Given the description of an element on the screen output the (x, y) to click on. 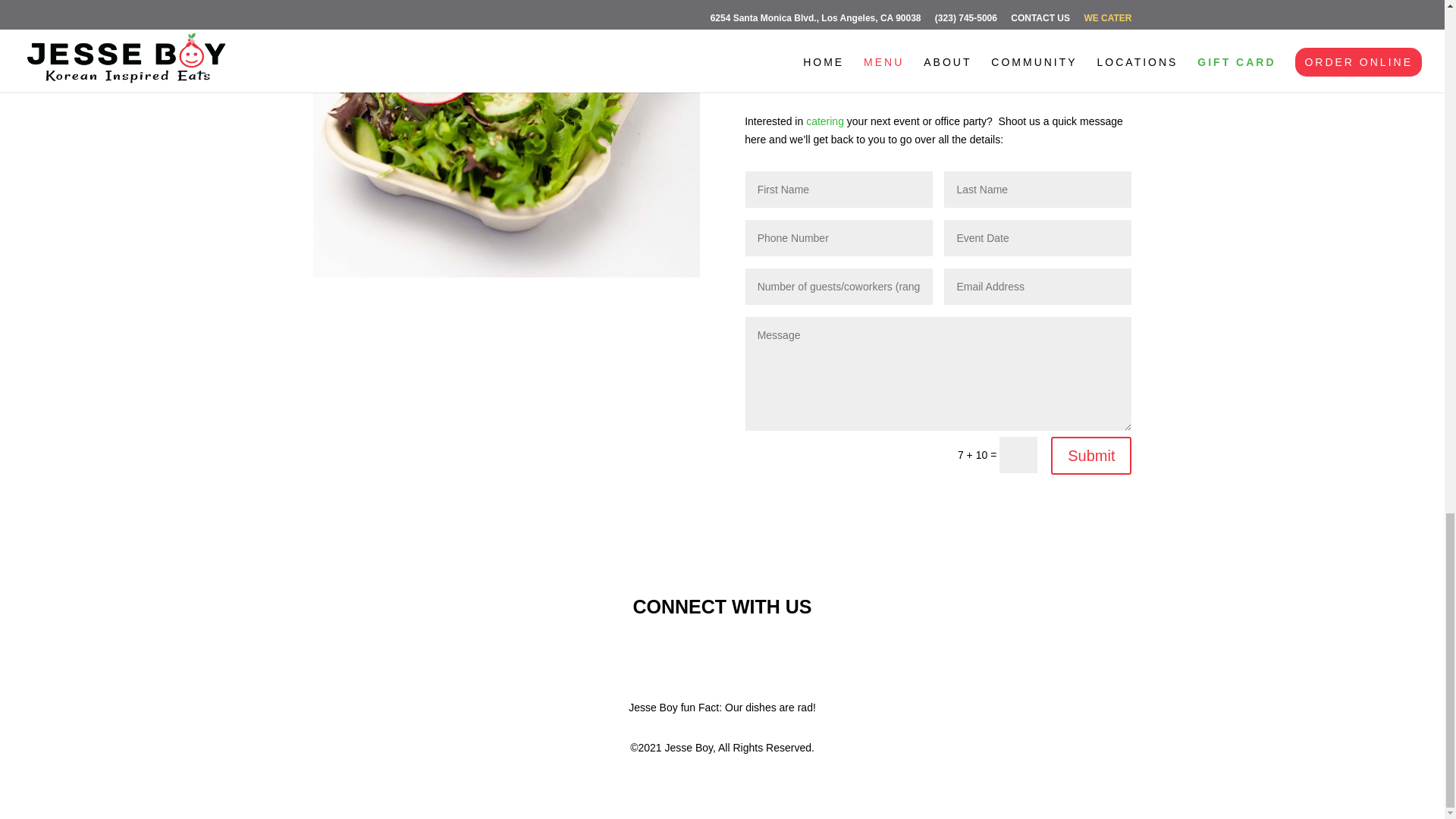
Order Online (804, 71)
catering (825, 121)
Submit (1091, 455)
Follow on Instagram (751, 658)
Follow on  (691, 658)
Follow on Twitter (721, 658)
